Given the description of an element on the screen output the (x, y) to click on. 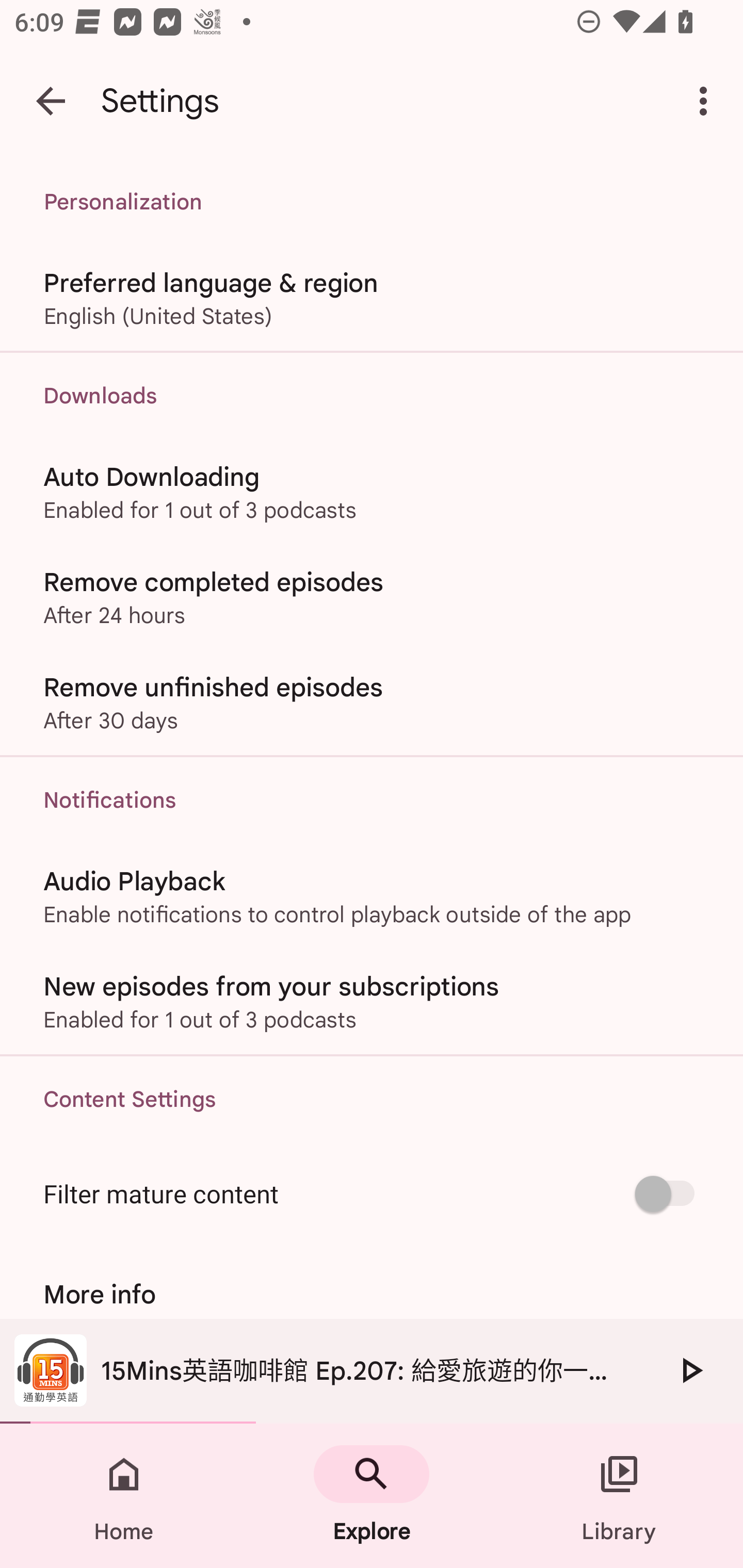
Navigate up (50, 101)
More options (706, 101)
Auto Downloading Enabled for 1 out of 3 podcasts (371, 491)
Remove completed episodes After 24 hours (371, 596)
Remove unfinished episodes After 30 days (371, 702)
More info (371, 1294)
Play (690, 1370)
Home (123, 1495)
Library (619, 1495)
